Given the description of an element on the screen output the (x, y) to click on. 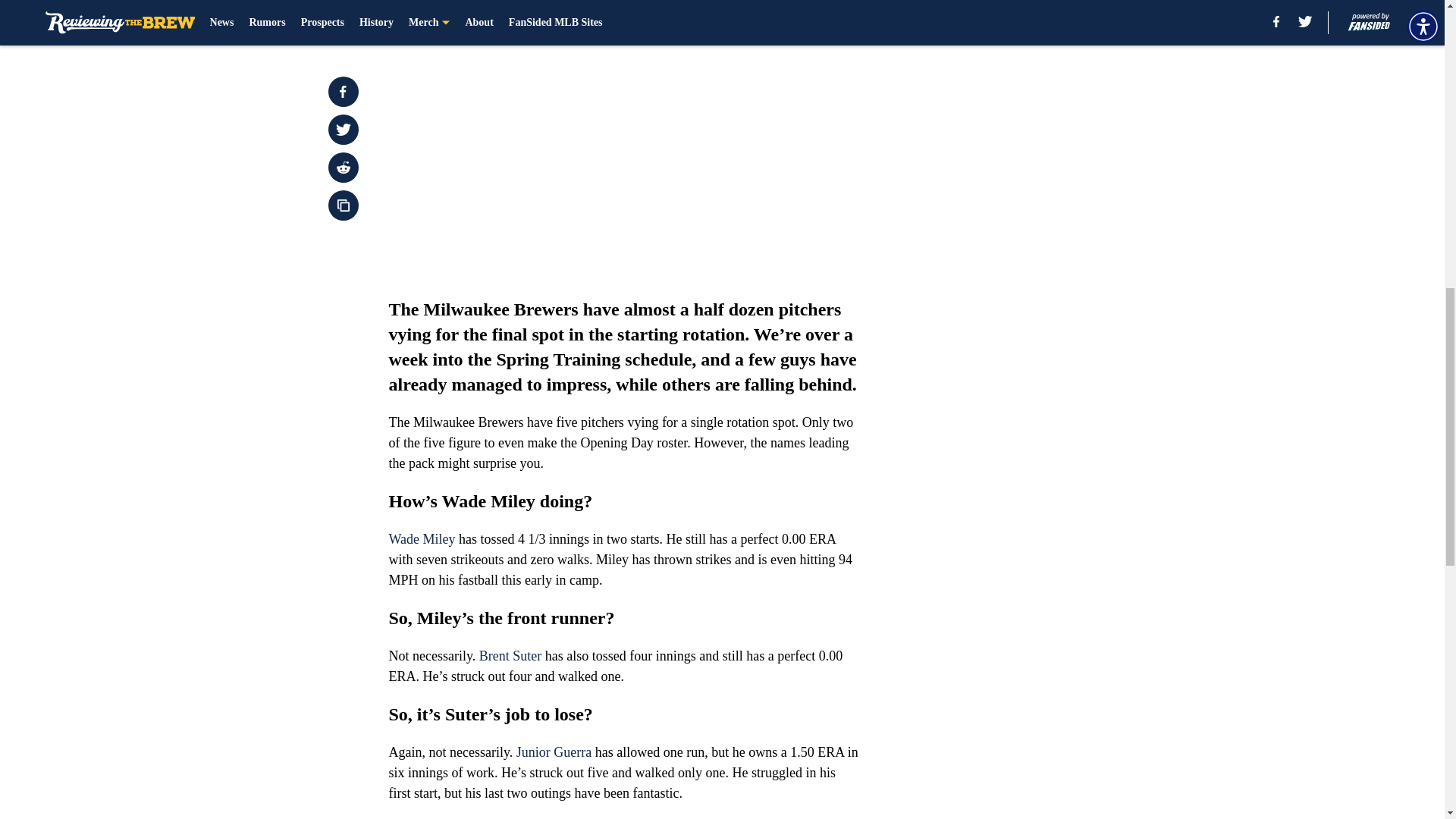
Junior Guerra (553, 752)
Wade Miley (421, 539)
Brent Suter (510, 655)
